Given the description of an element on the screen output the (x, y) to click on. 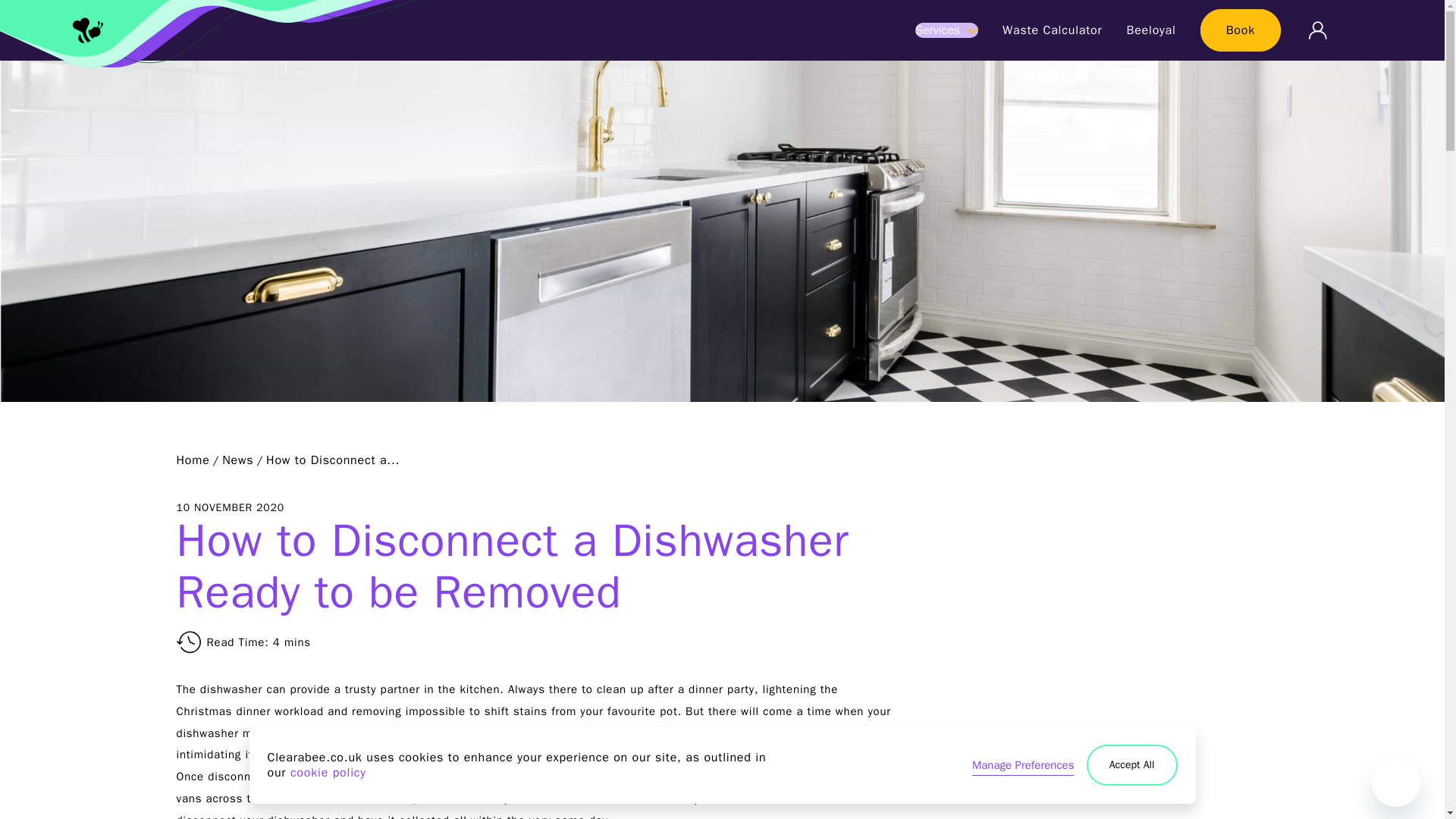
Book (1240, 30)
Beeloyal (1149, 29)
Accept All (1131, 764)
cookie policy (327, 772)
Home (192, 459)
Services (946, 29)
rubbish removal (469, 775)
News (237, 459)
Waste Calculator (1052, 29)
How to Disconnect a... (332, 459)
